Given the description of an element on the screen output the (x, y) to click on. 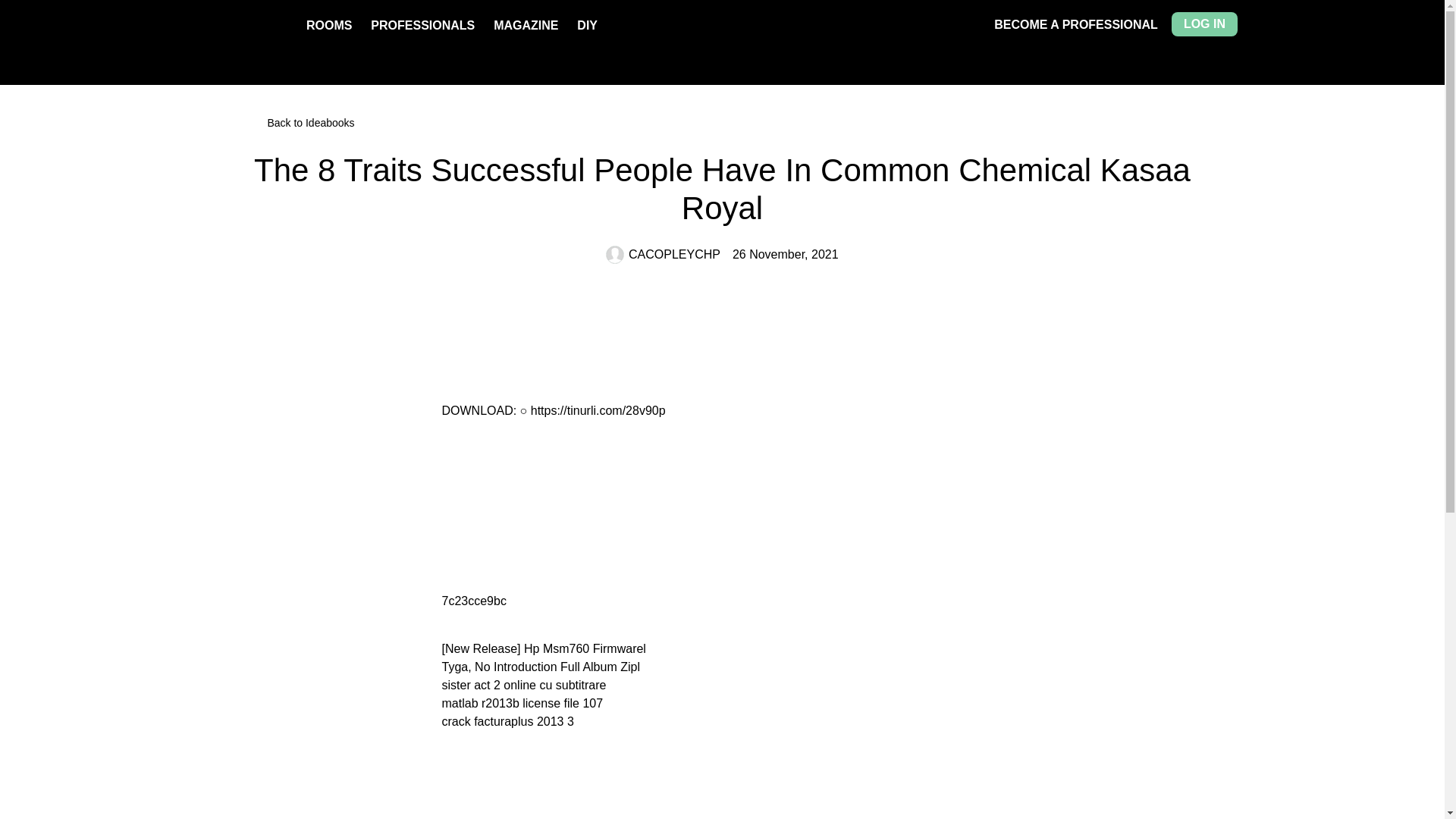
CACOPLEYCHP (662, 254)
PROFESSIONALS (422, 25)
BECOME A PROFESSIONAL (1075, 23)
MAGAZINE (525, 25)
Back to Ideabooks (721, 122)
ROOMS (328, 25)
DIY (586, 25)
LOG IN (1204, 24)
